Given the description of an element on the screen output the (x, y) to click on. 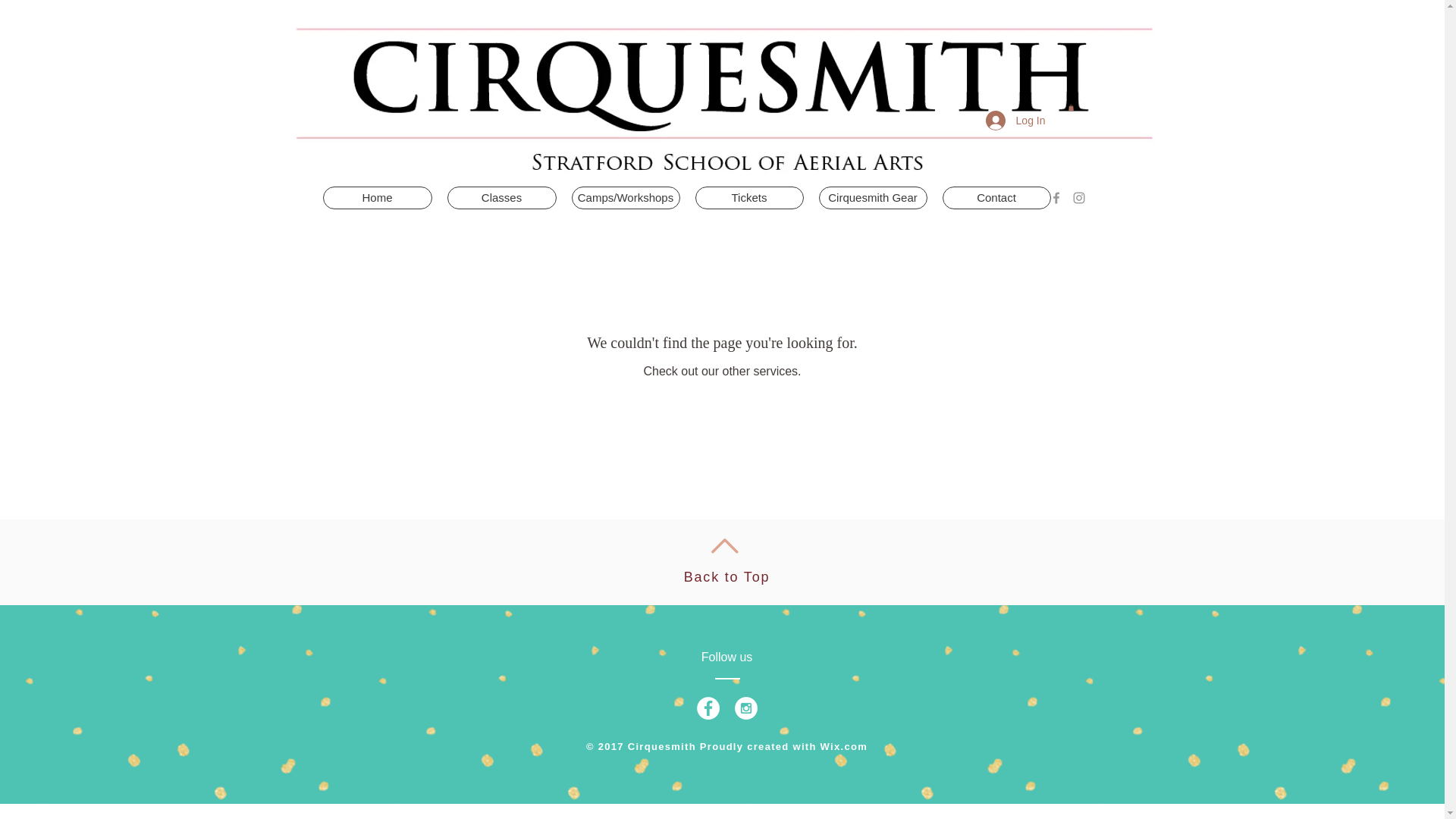
Wix.com (844, 746)
Classes (501, 197)
Back to Top (727, 576)
Contact (995, 197)
Home (377, 197)
Tickets (748, 197)
Cirquesmith Gear (872, 197)
Log In (1016, 120)
